Given the description of an element on the screen output the (x, y) to click on. 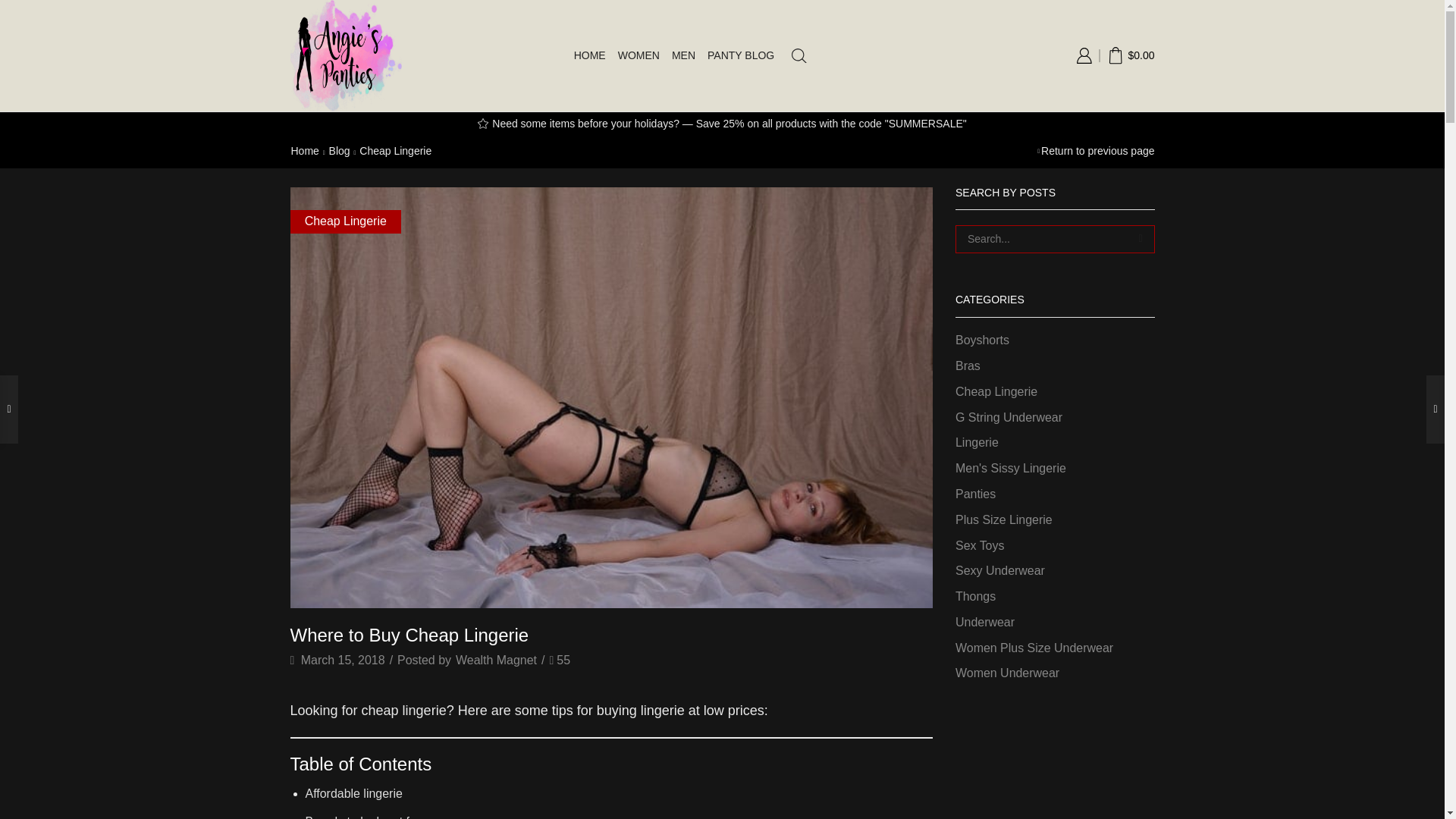
WOMEN (638, 54)
PANTY BLOG (740, 54)
MEN (683, 54)
HOME (589, 54)
Posts by Wealth Magnet (496, 660)
